Given the description of an element on the screen output the (x, y) to click on. 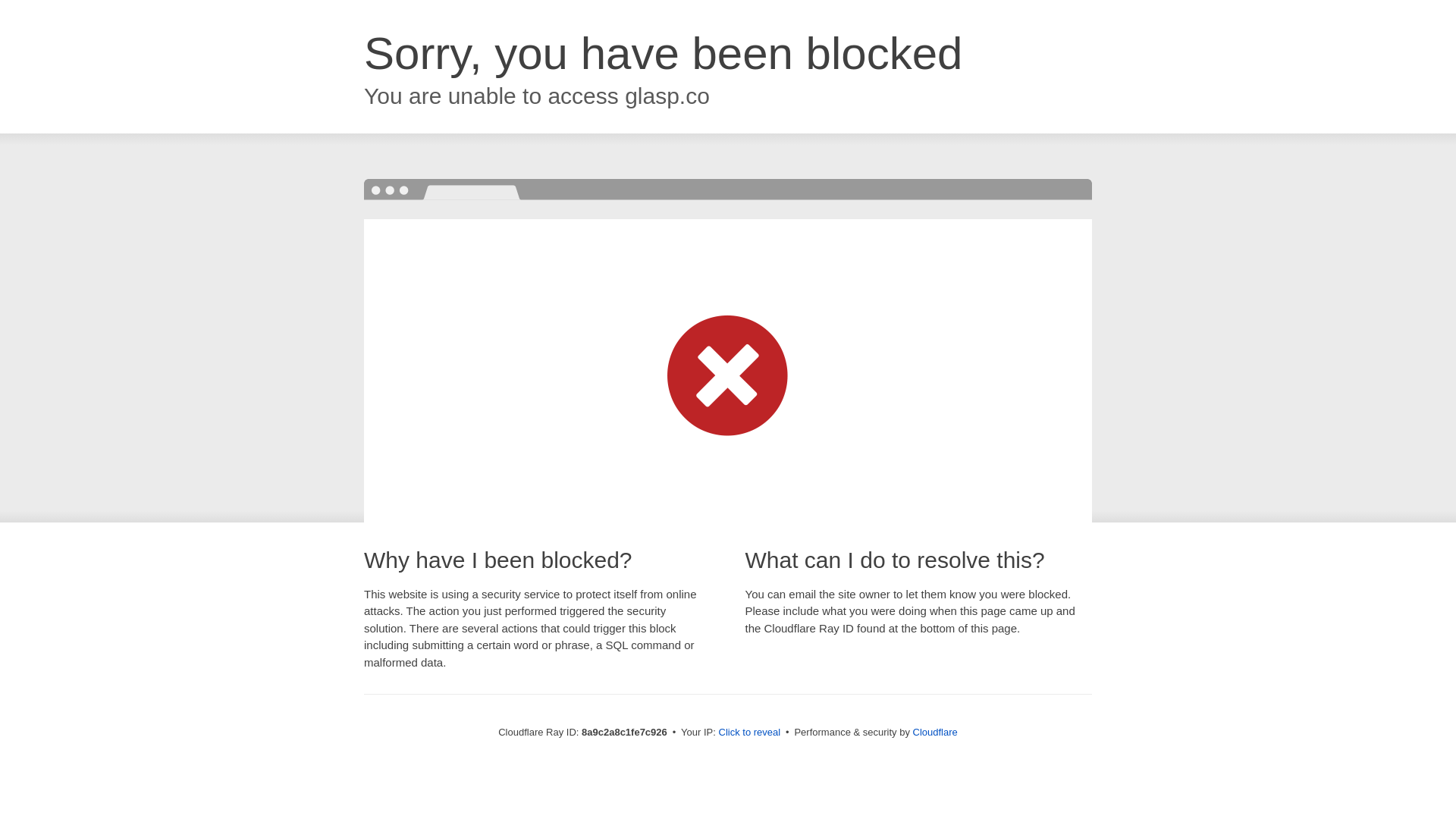
Cloudflare (935, 731)
Click to reveal (749, 732)
